Given the description of an element on the screen output the (x, y) to click on. 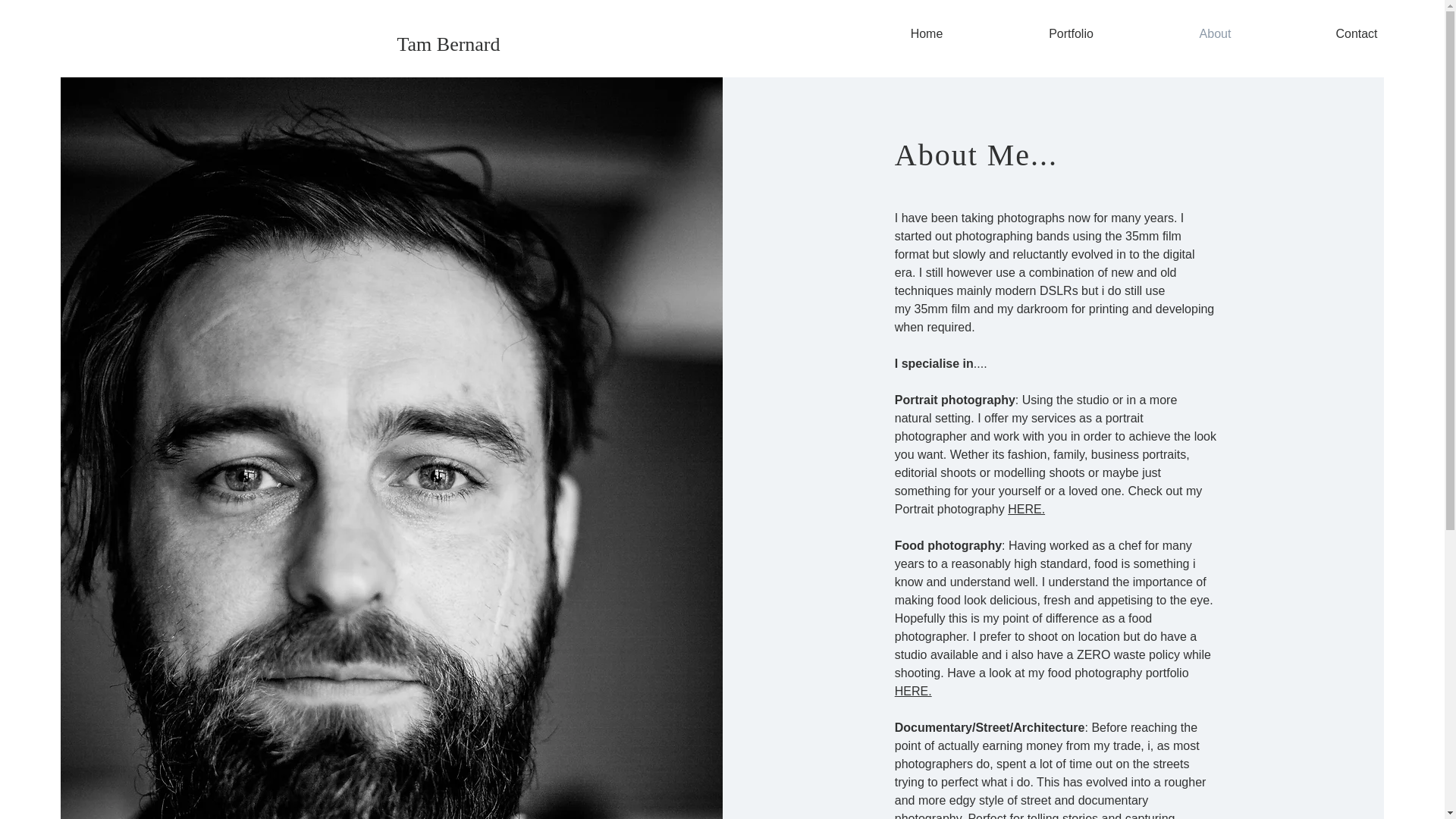
Portfolio (1071, 34)
Home (926, 34)
Tam Bernard (448, 44)
Contact (1356, 34)
HERE. (913, 690)
About (1215, 34)
HERE. (1026, 508)
